Given the description of an element on the screen output the (x, y) to click on. 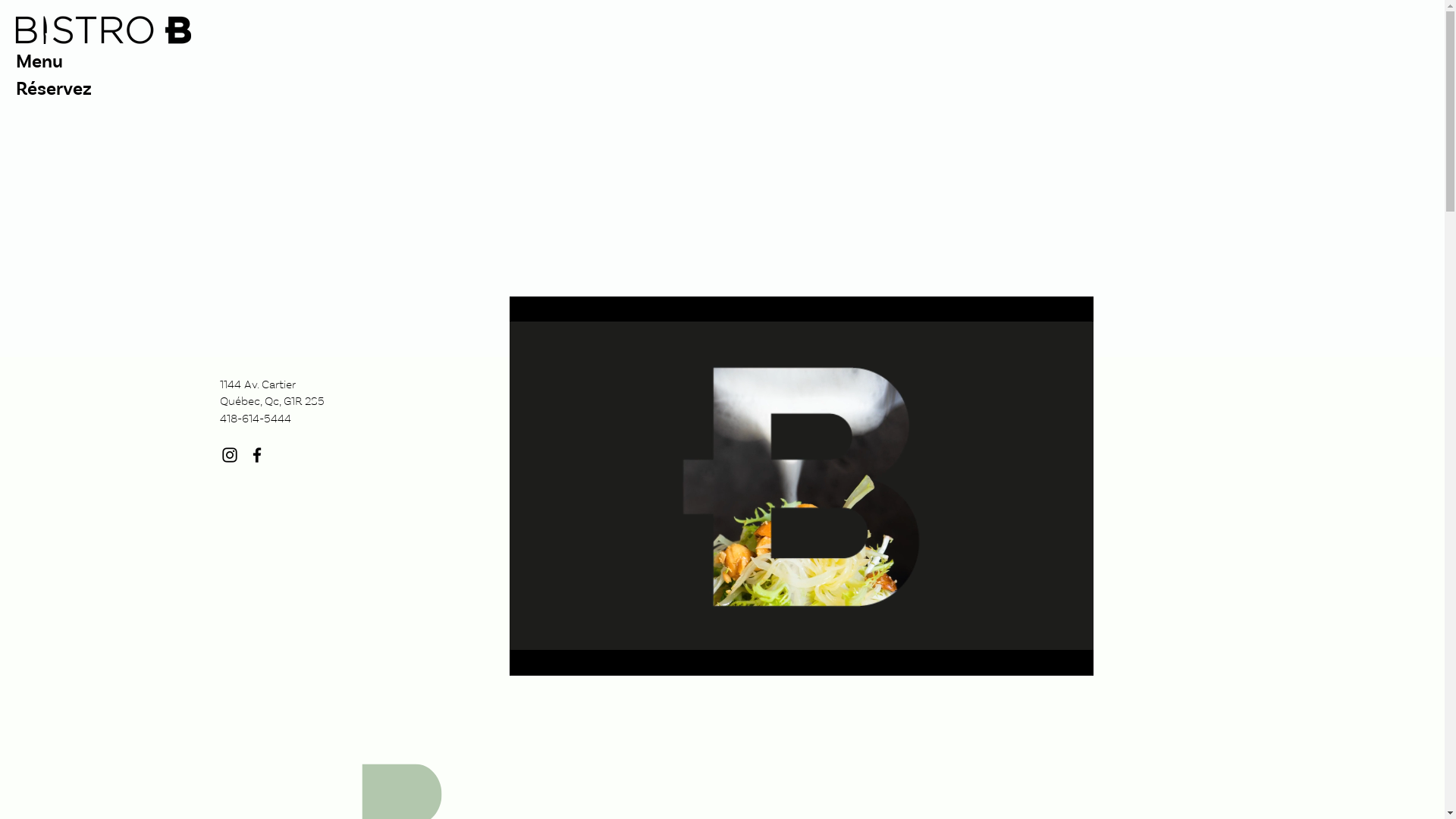
Menu Element type: text (377, 61)
